Given the description of an element on the screen output the (x, y) to click on. 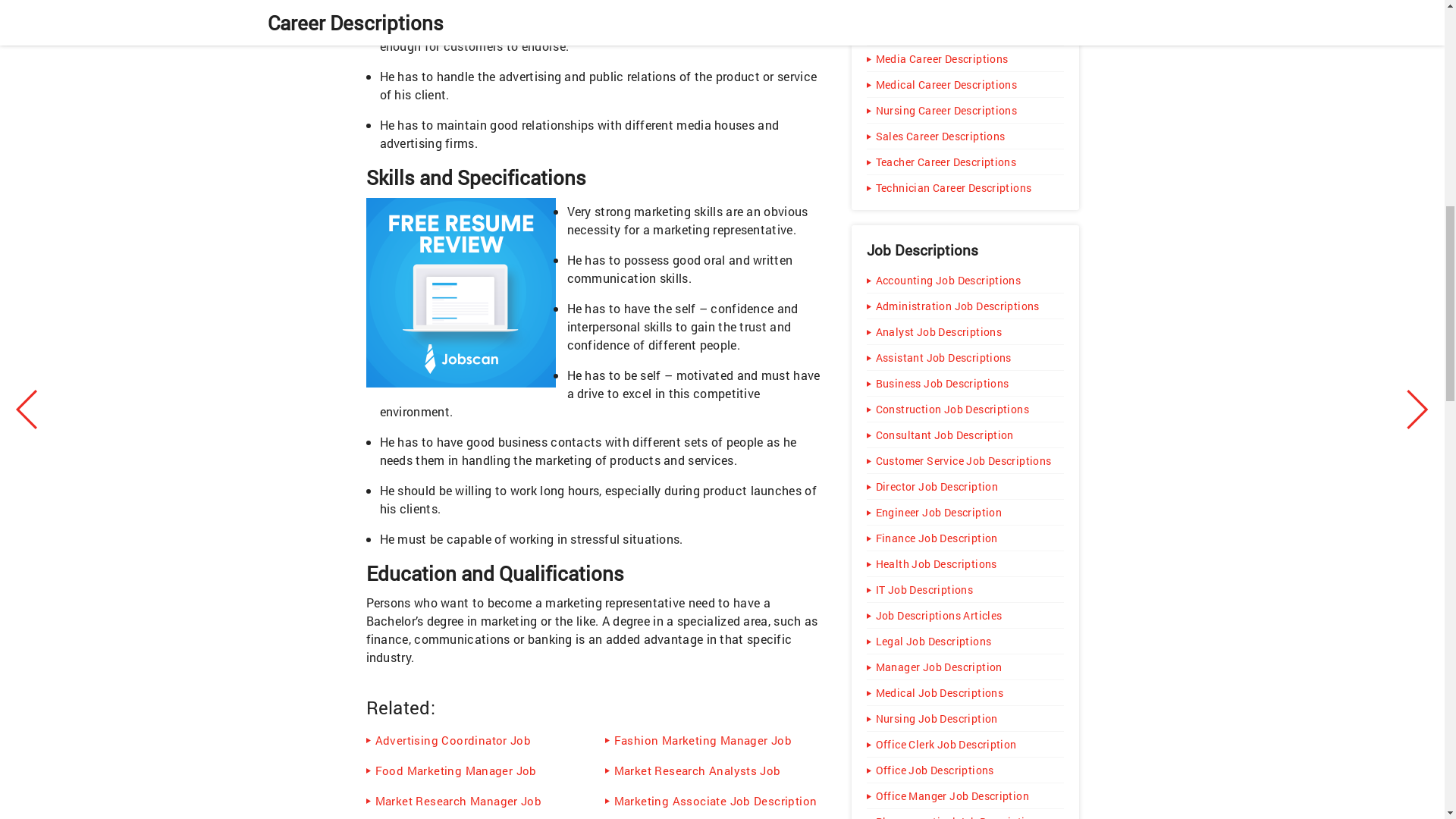
Sales Career Descriptions (964, 135)
Advertising Coordinator Job Description (472, 739)
Market Research Analysts Job Description (713, 769)
Marketing Associate Job Description (713, 799)
Management Career Descriptions (964, 7)
Nursing Career Descriptions (964, 110)
Fashion Marketing Manager Job Description (713, 739)
Medical Career Descriptions (964, 83)
Marketing Career Descriptions (964, 32)
Media Career Descriptions (964, 58)
Market Research Manager Job Description (472, 799)
Food Marketing Manager Job Description (472, 769)
